Given the description of an element on the screen output the (x, y) to click on. 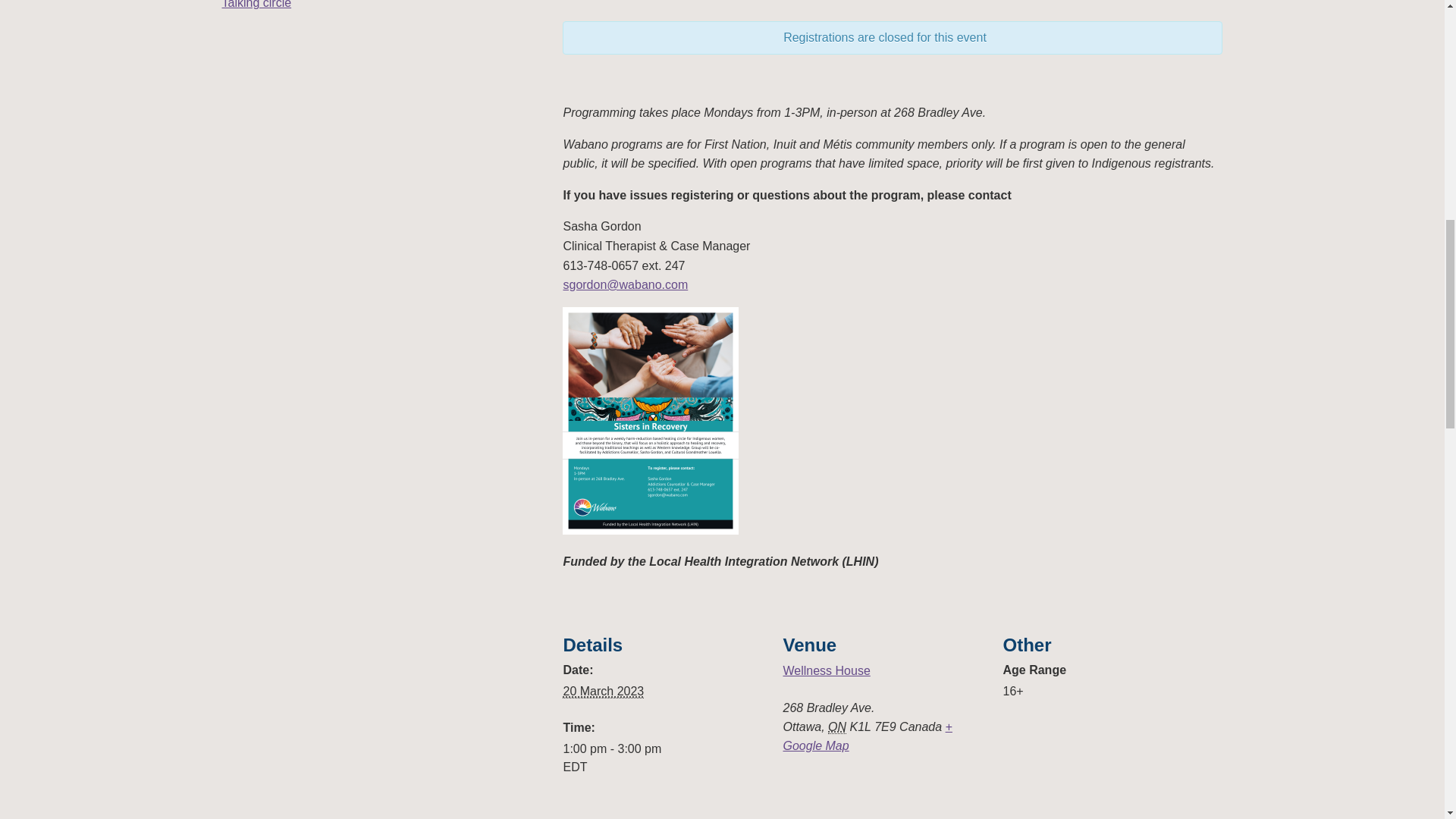
Opens in a new window (867, 736)
More on Talking circle (256, 4)
2023-03-20 (663, 758)
ON (836, 726)
2023-03-20 (602, 691)
